Given the description of an element on the screen output the (x, y) to click on. 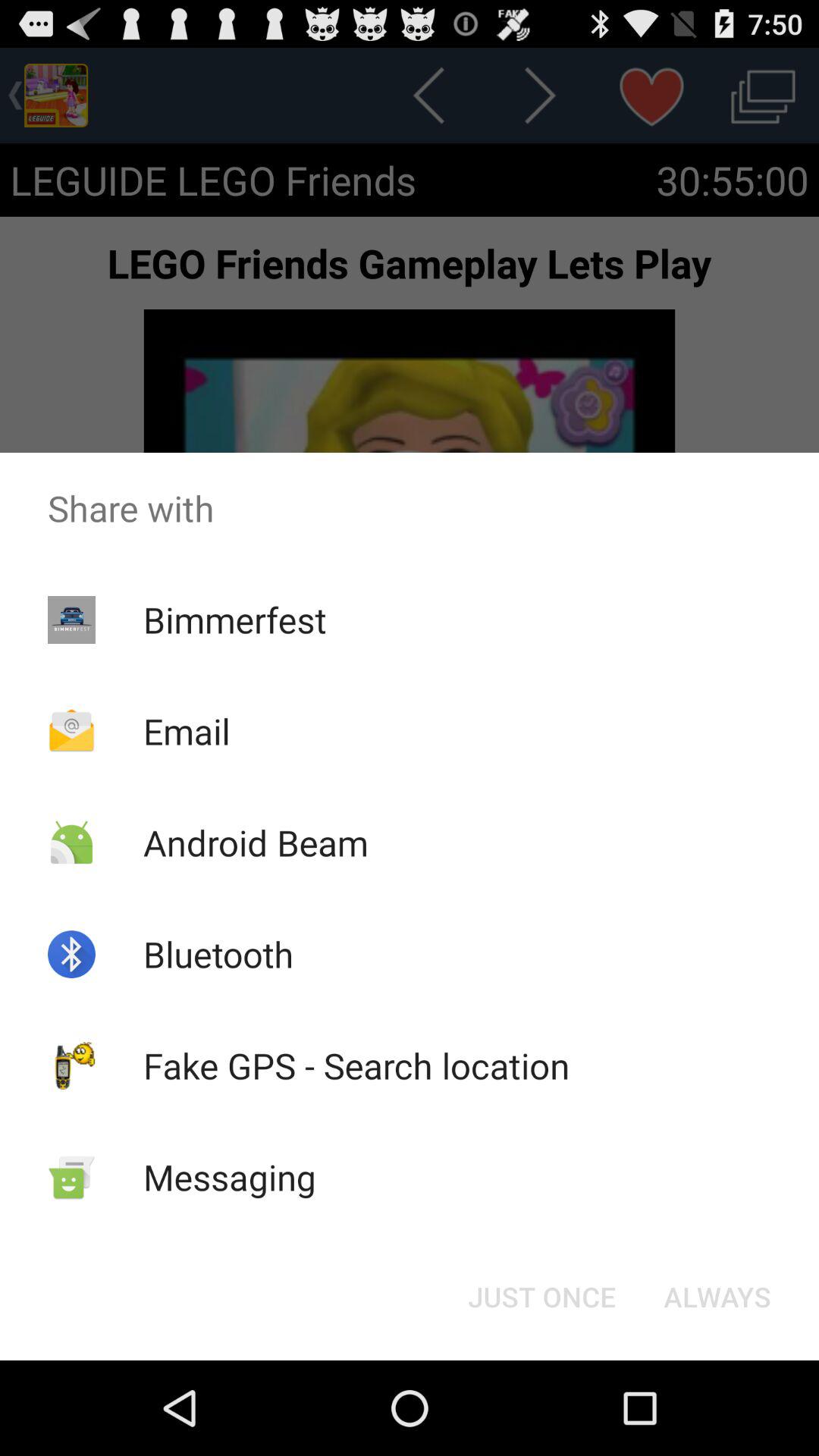
launch item next to always button (541, 1296)
